Given the description of an element on the screen output the (x, y) to click on. 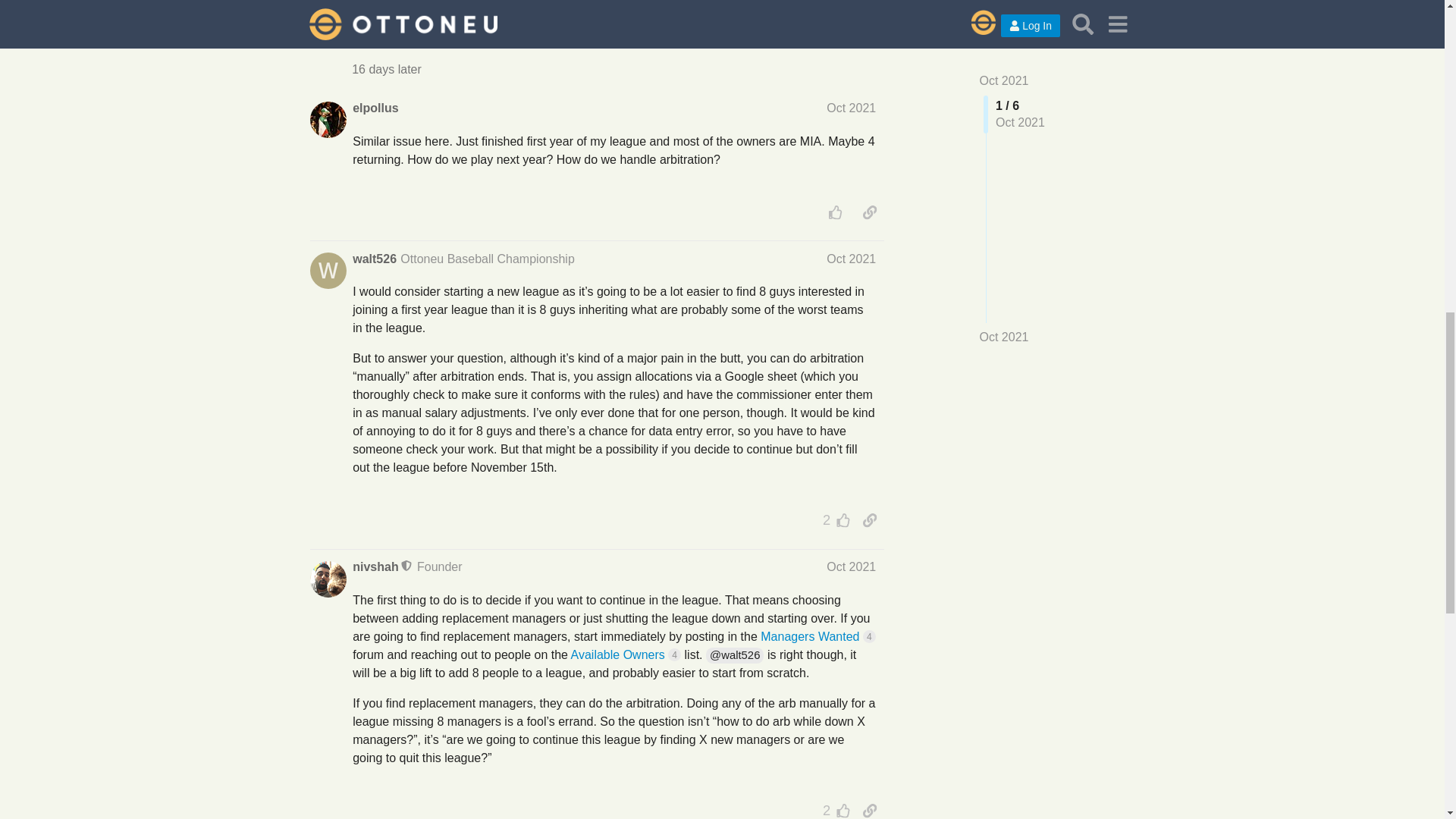
elpollus (374, 108)
Oct 2021 (851, 107)
1 (832, 20)
